Given the description of an element on the screen output the (x, y) to click on. 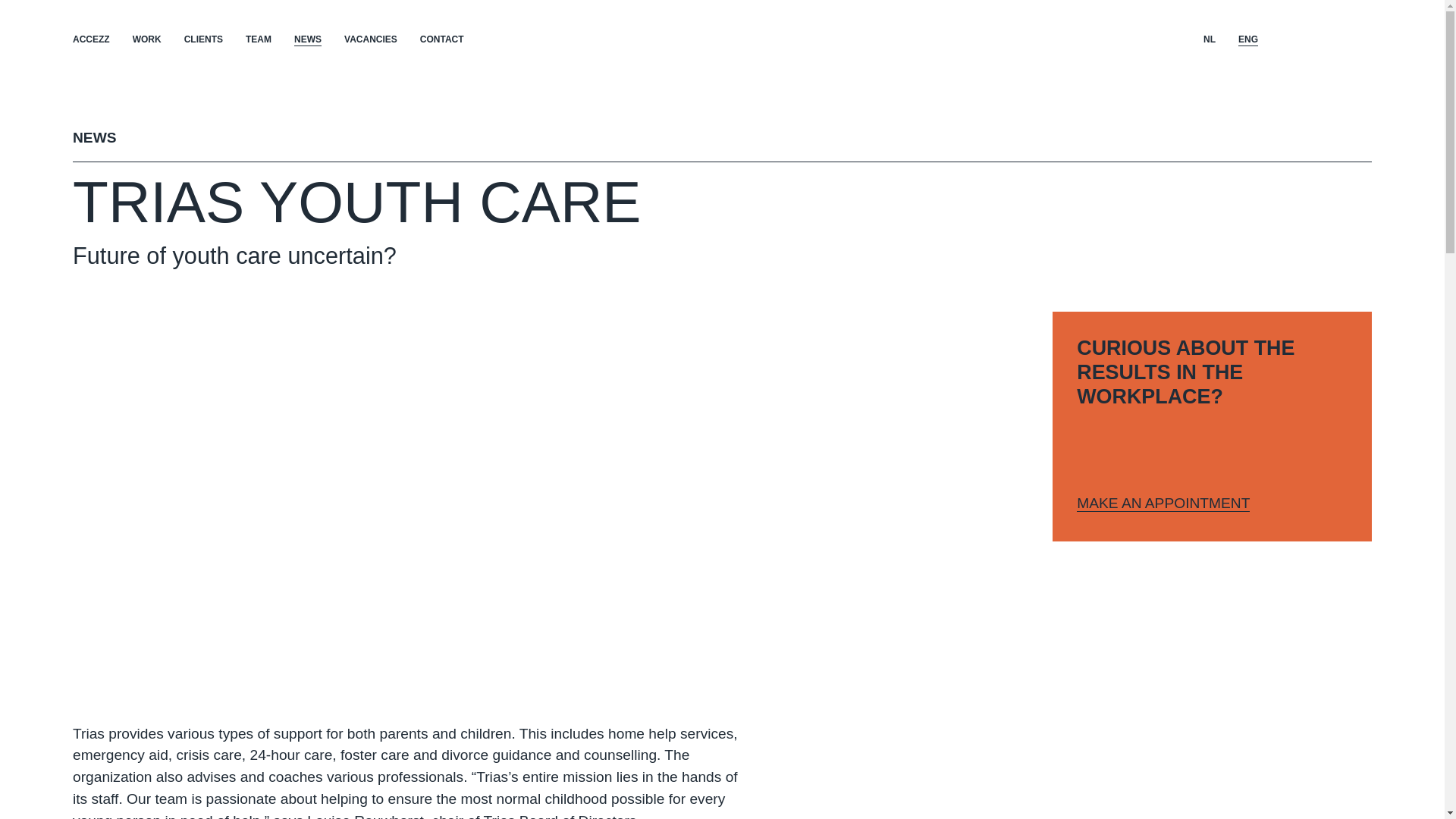
ACCEZZ (91, 39)
CLIENTS (203, 39)
TEAM (258, 39)
NL (1209, 39)
accezz (1345, 37)
VACANCIES (370, 39)
CONTACT (442, 39)
accezz (1345, 37)
ENG (1248, 39)
WORK (146, 39)
